Given the description of an element on the screen output the (x, y) to click on. 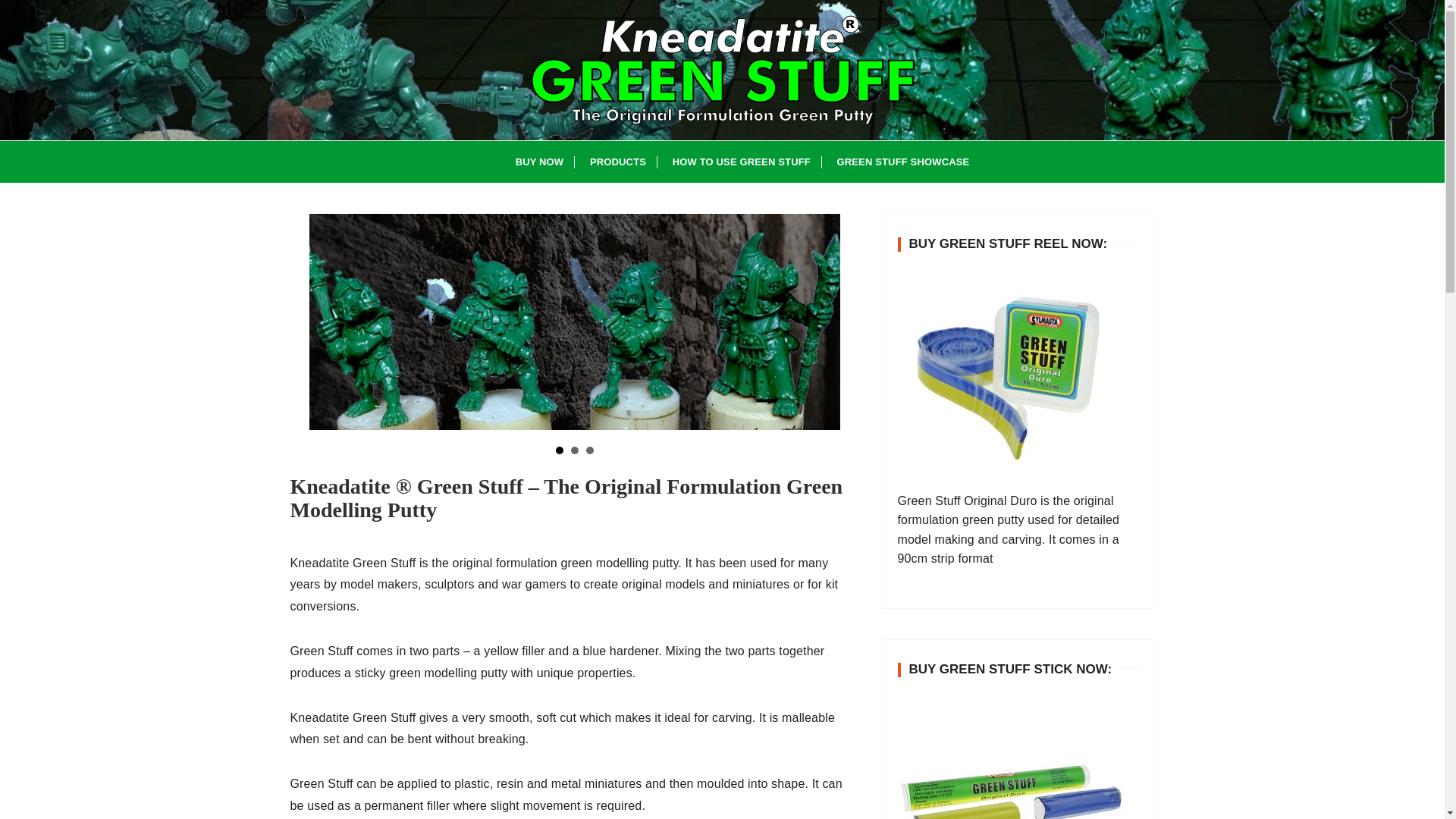
HOW TO USE GREEN STUFF (741, 161)
BUY NOW (539, 161)
GREEN STUFF SHOWCASE (902, 161)
1 (558, 450)
2 (574, 450)
3 (588, 450)
PRODUCTS (618, 161)
